Given the description of an element on the screen output the (x, y) to click on. 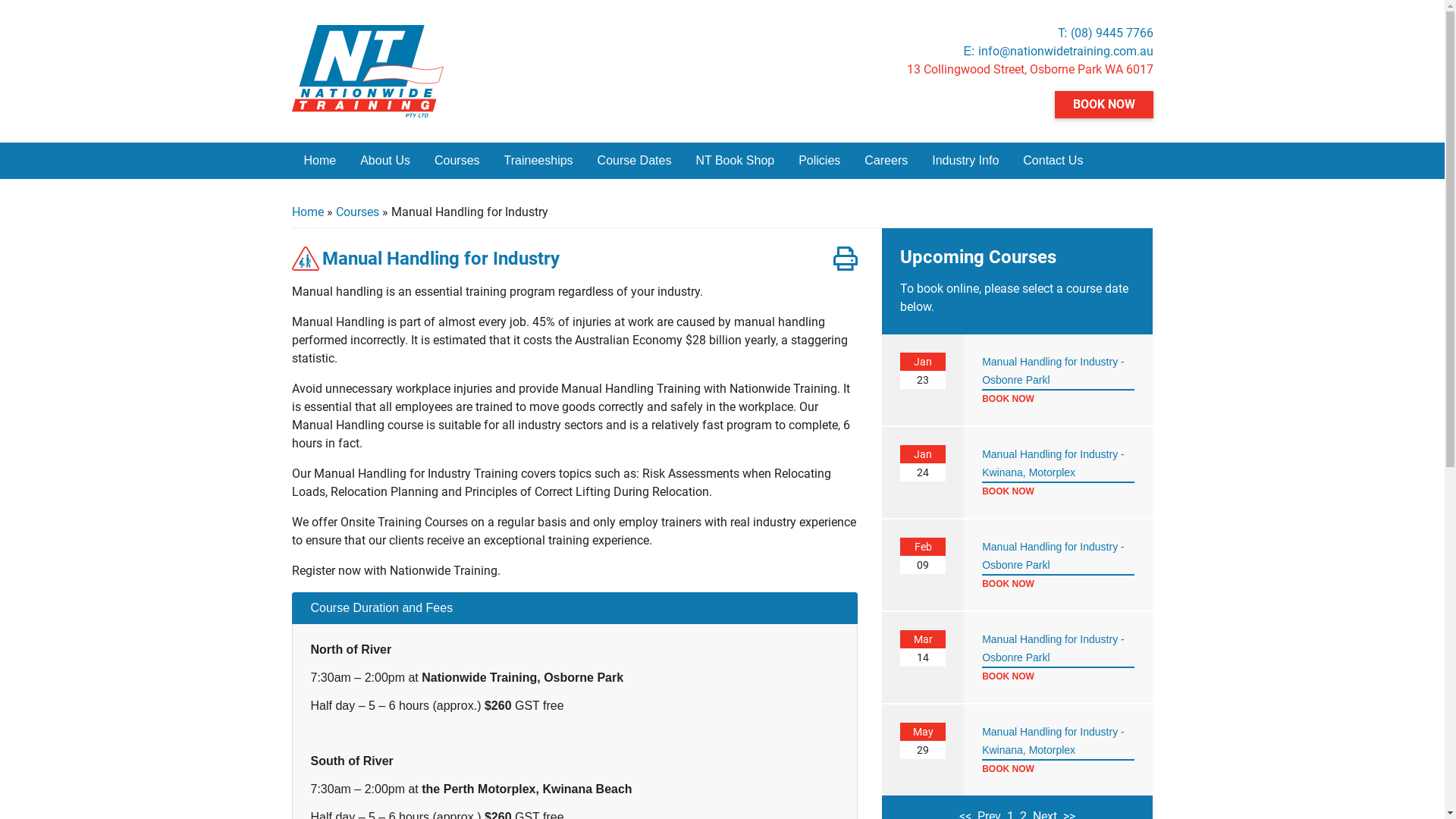
Courses Element type: text (356, 211)
BOOK NOW Element type: text (1058, 490)
BOOK NOW Element type: text (1058, 768)
BOOK NOW Element type: text (1103, 104)
Home Element type: text (307, 211)
Contact Us Element type: text (1052, 160)
Policies Element type: text (819, 160)
About Us Element type: text (385, 160)
BOOK NOW Element type: text (1058, 583)
NT Book Shop Element type: text (734, 160)
13 Collingwood Street, Osborne Park WA 6017 Element type: text (1029, 69)
Traineeships Element type: text (538, 160)
Industry Info Element type: text (964, 160)
Course Dates Element type: text (634, 160)
info@nationwidetraining.com.au Element type: text (1065, 50)
Home Element type: text (319, 160)
(08) 9445 7766 Element type: text (1111, 32)
BOOK NOW Element type: text (1058, 398)
Courses Element type: text (457, 160)
BOOK NOW Element type: text (1058, 675)
Careers Element type: text (885, 160)
